Given the description of an element on the screen output the (x, y) to click on. 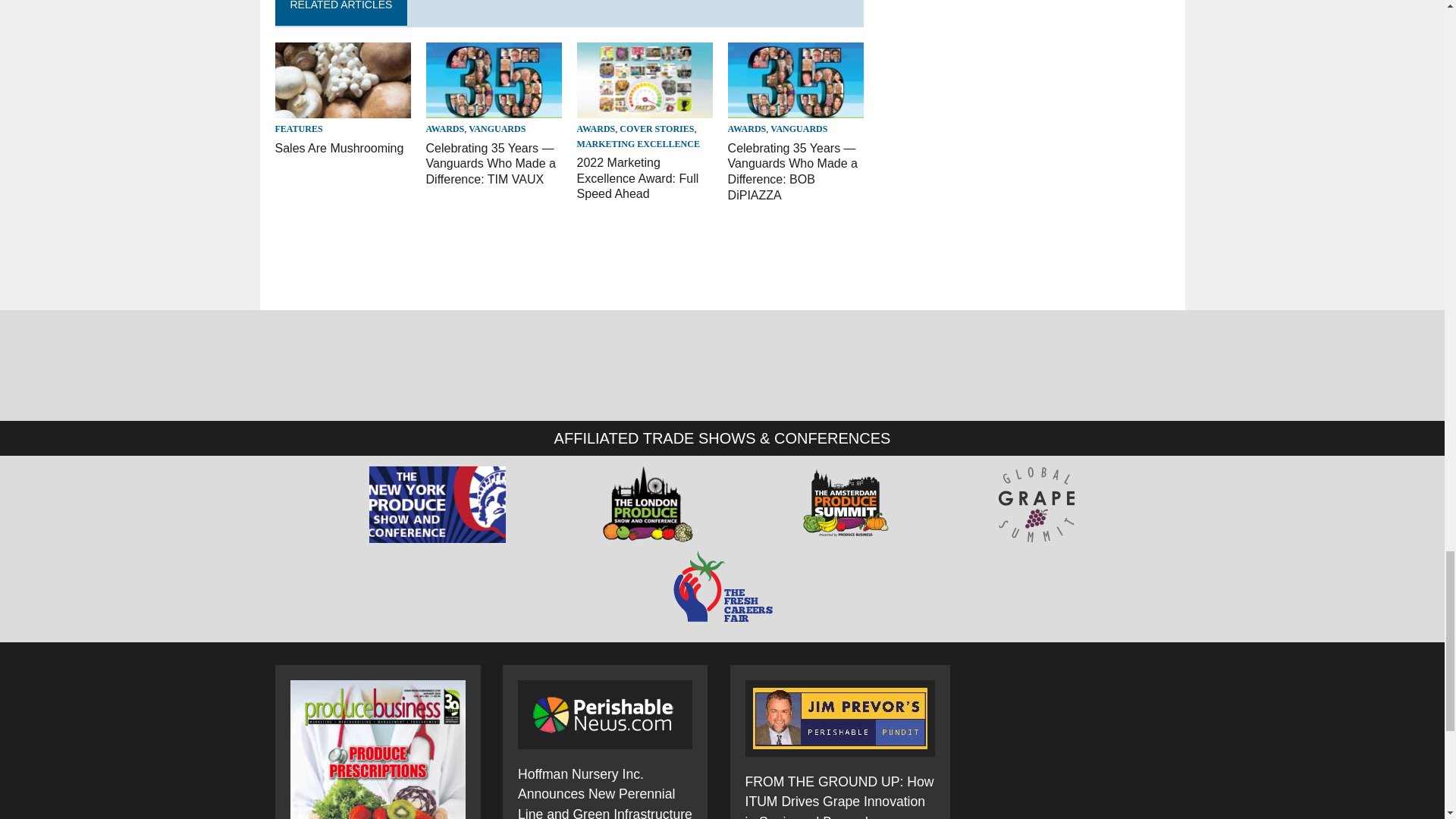
Sales Are Mushrooming (342, 108)
3rd party ad content (551, 260)
Sales Are Mushrooming (339, 147)
2022 Marketing Excellence Award: Full Speed Ahead (644, 108)
2022 Marketing Excellence Award: Full Speed Ahead (637, 178)
